Given the description of an element on the screen output the (x, y) to click on. 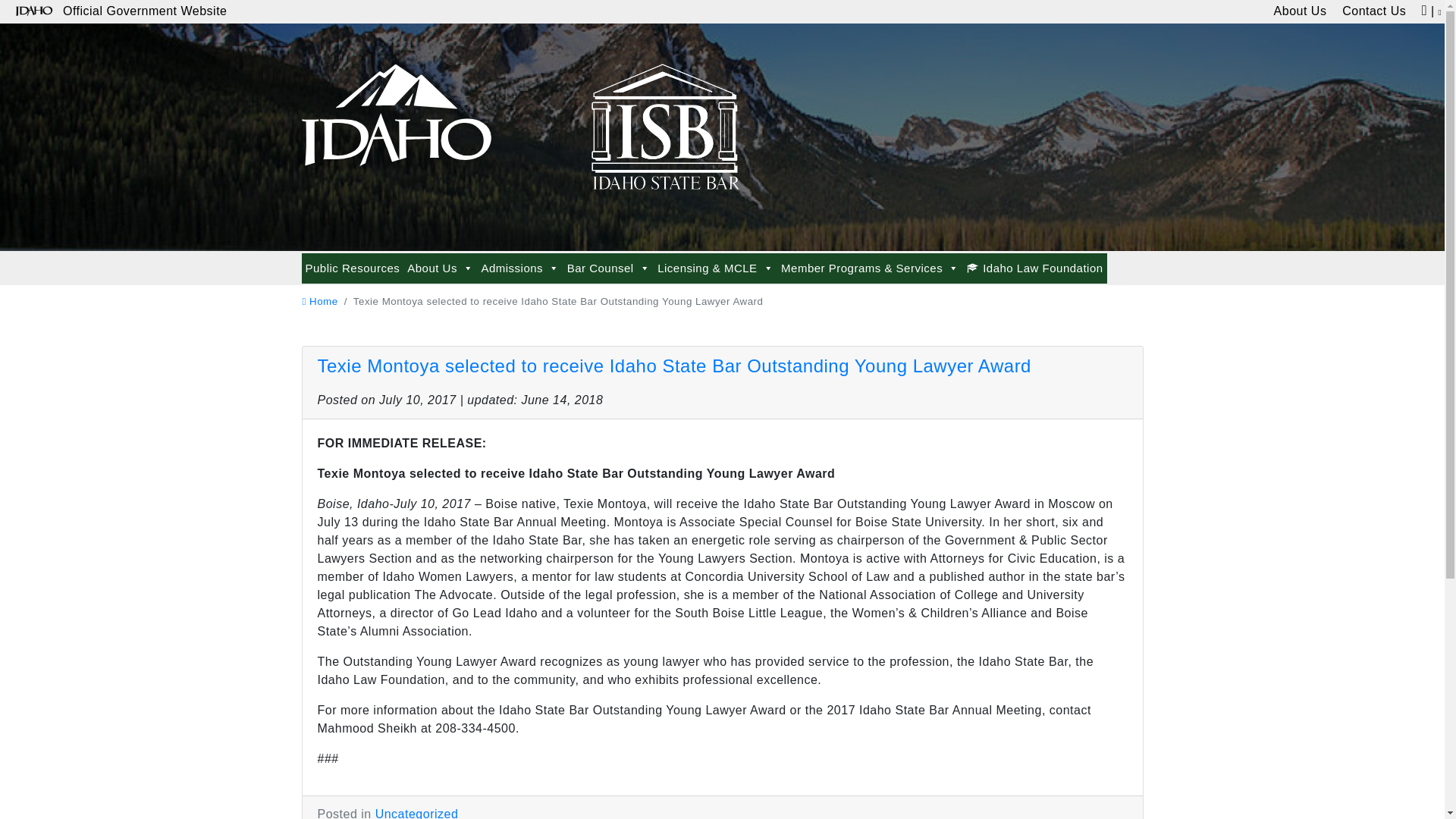
Contact Us (1374, 12)
home (319, 301)
About Us (440, 268)
About Us (1300, 12)
Admissions (519, 268)
Bar Counsel (608, 268)
Public Resources (352, 268)
State Bar (396, 107)
